Given the description of an element on the screen output the (x, y) to click on. 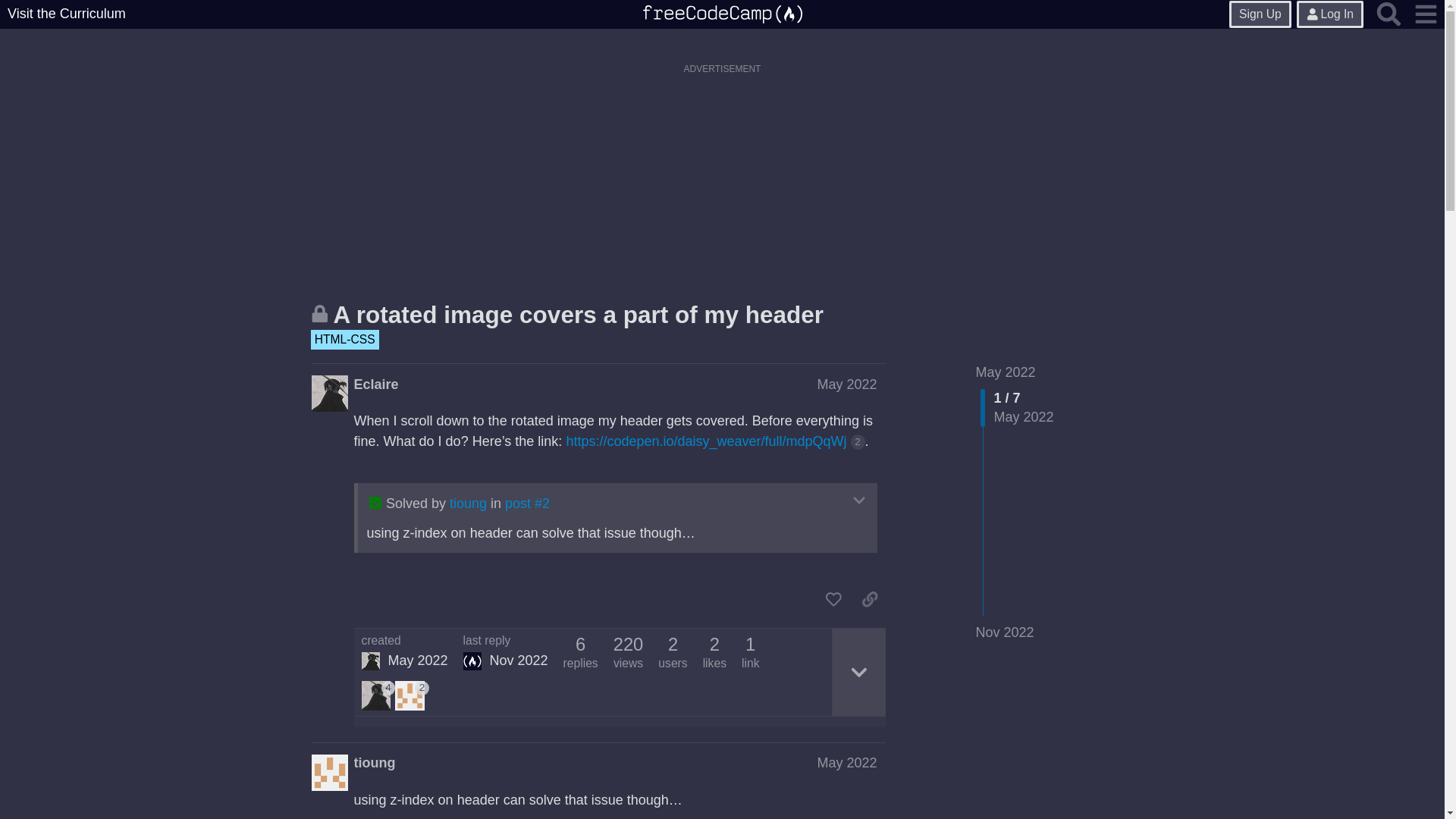
last reply (505, 640)
Nov 2022 (1004, 632)
4 (378, 695)
Giulia (370, 660)
Jump to the first post (1005, 372)
tioung (374, 763)
Please sign up or log in to like this post (833, 599)
HTML-CSS (344, 340)
Search (1388, 14)
A rotated image covers a part of my header (578, 314)
Sign Up (1259, 13)
tioung (467, 503)
Post date (846, 384)
Log In (1329, 13)
